Given the description of an element on the screen output the (x, y) to click on. 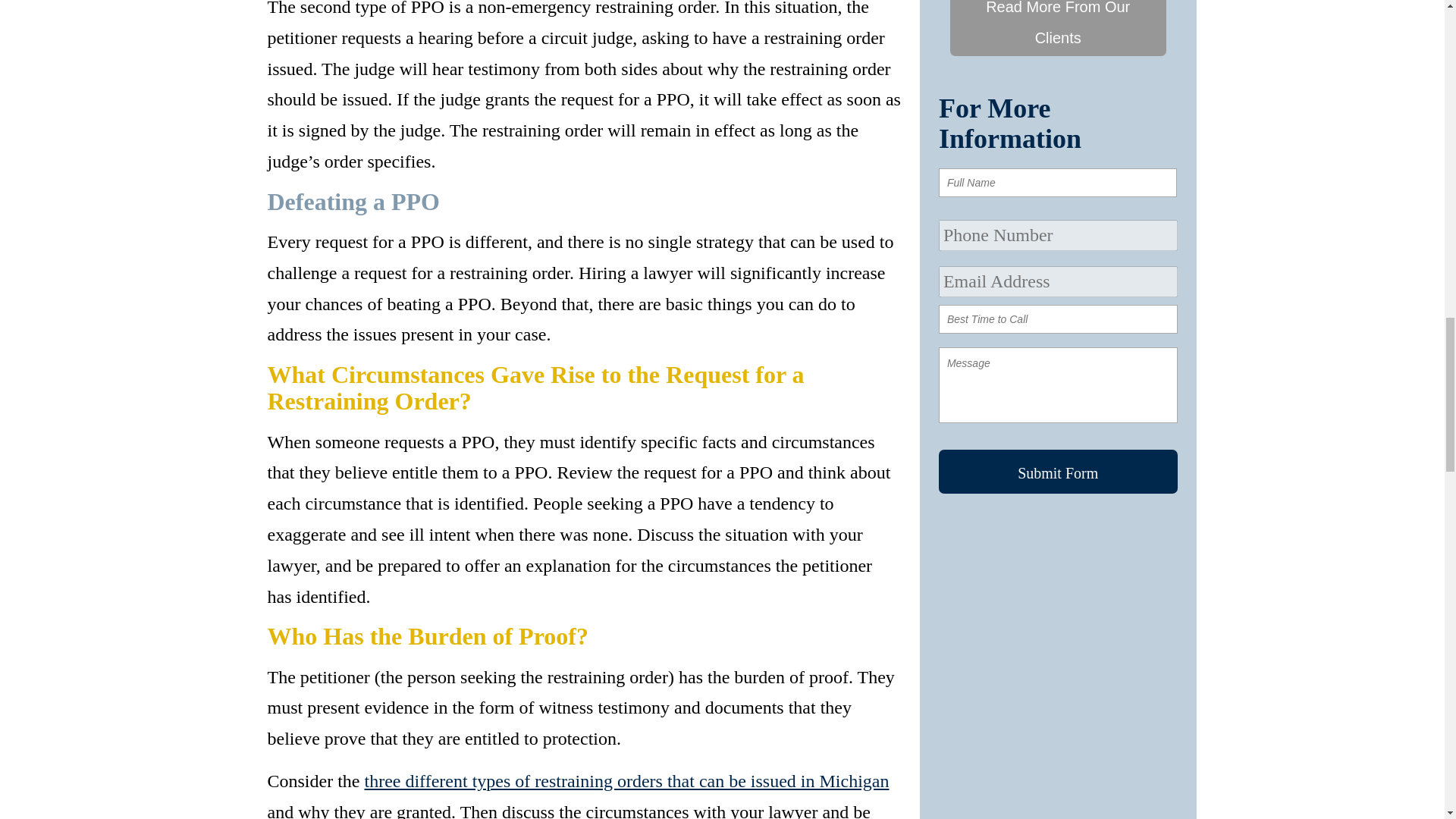
Submit Form (1058, 471)
